Given the description of an element on the screen output the (x, y) to click on. 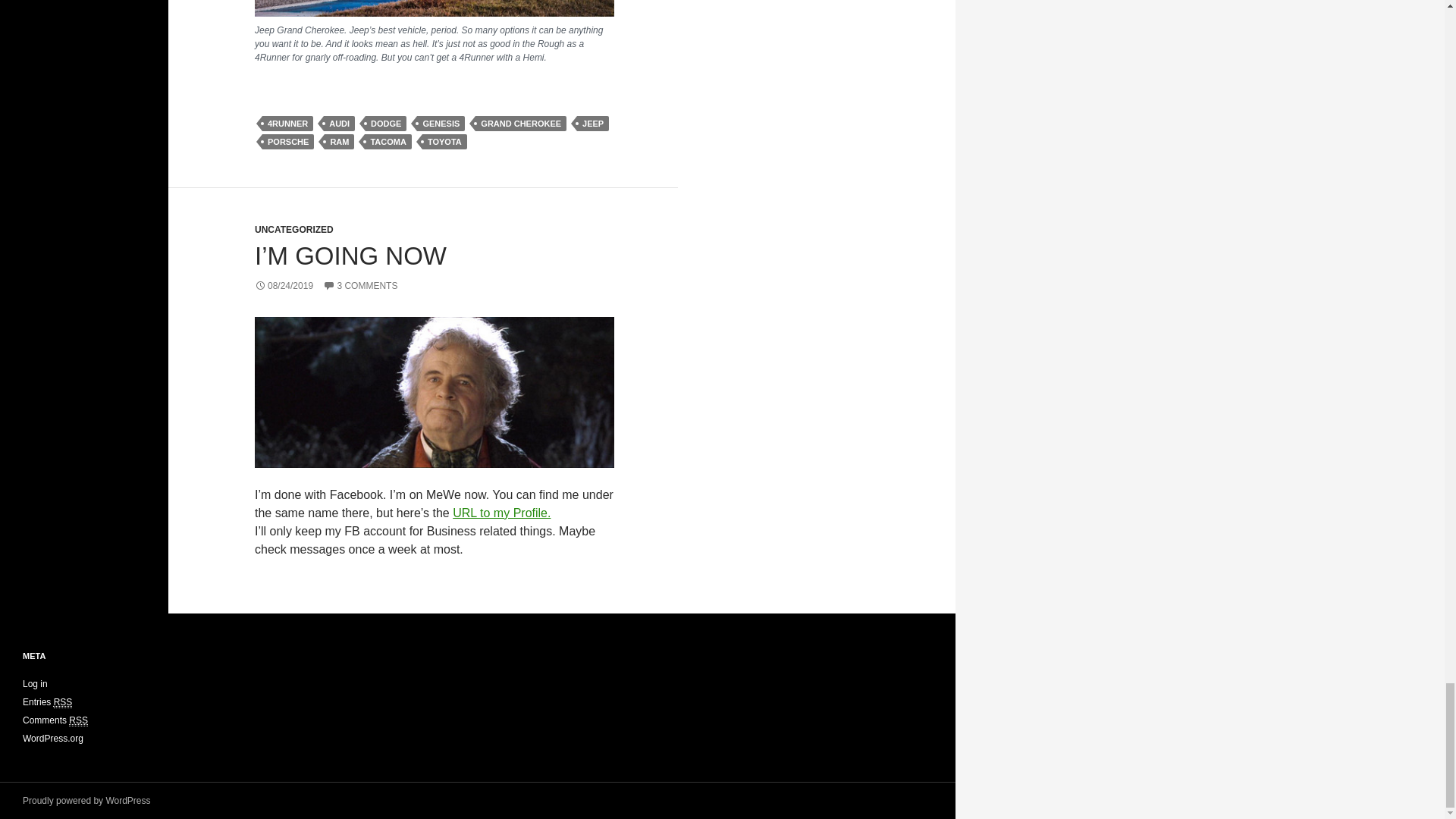
RAM (338, 141)
TOYOTA (444, 141)
DODGE (385, 123)
JEEP (592, 123)
PORSCHE (288, 141)
3 COMMENTS (360, 285)
GRAND CHEROKEE (521, 123)
URL to my Profile. (501, 512)
Really Simple Syndication (62, 702)
AUDI (339, 123)
